Given the description of an element on the screen output the (x, y) to click on. 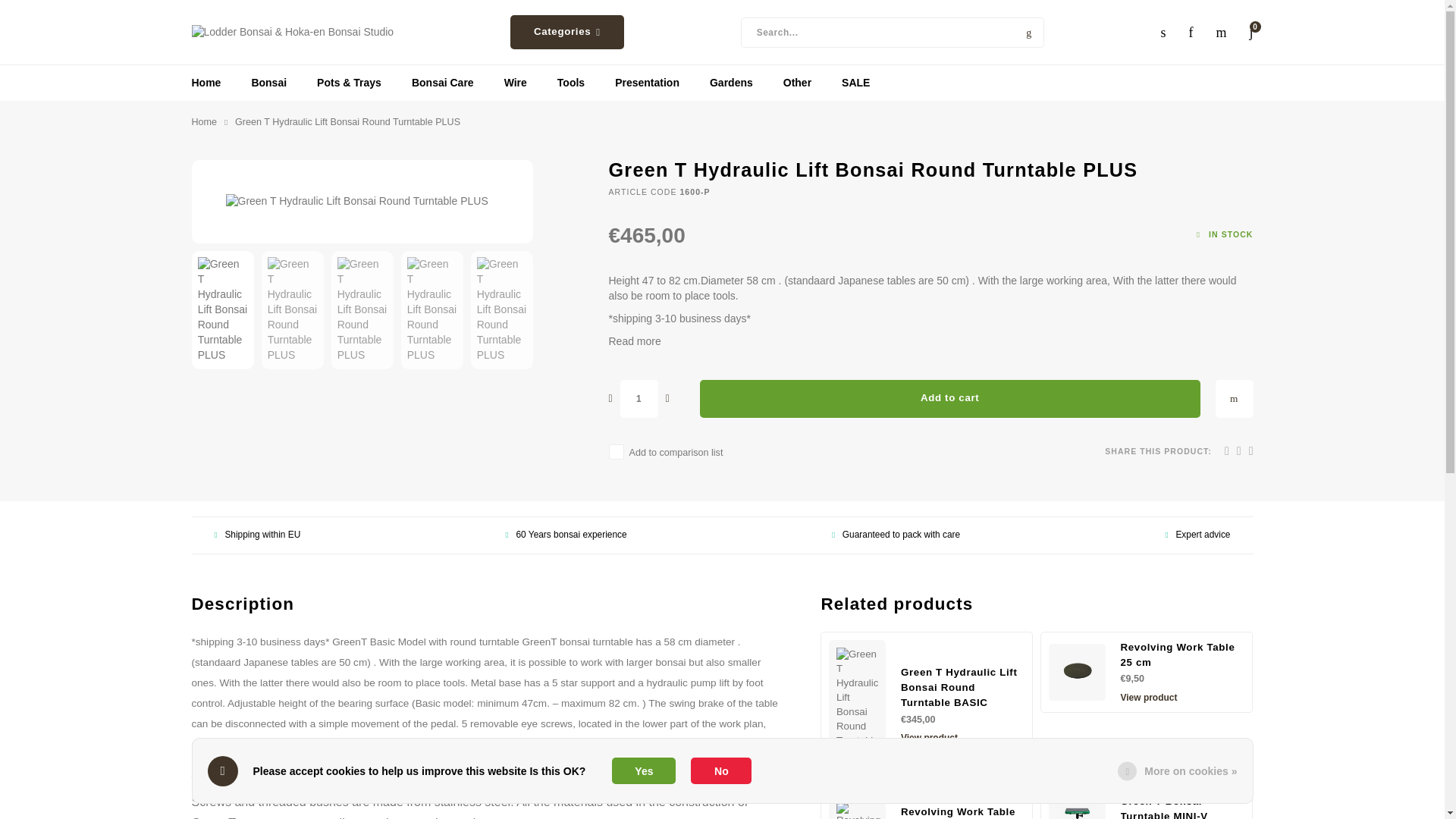
Home (203, 122)
Add to wishlist (1233, 398)
Add to cart (949, 398)
1 (639, 398)
Search (1028, 31)
Green T Hydraulic Lift Bonsai Round Turntable PLUS (362, 201)
